Given the description of an element on the screen output the (x, y) to click on. 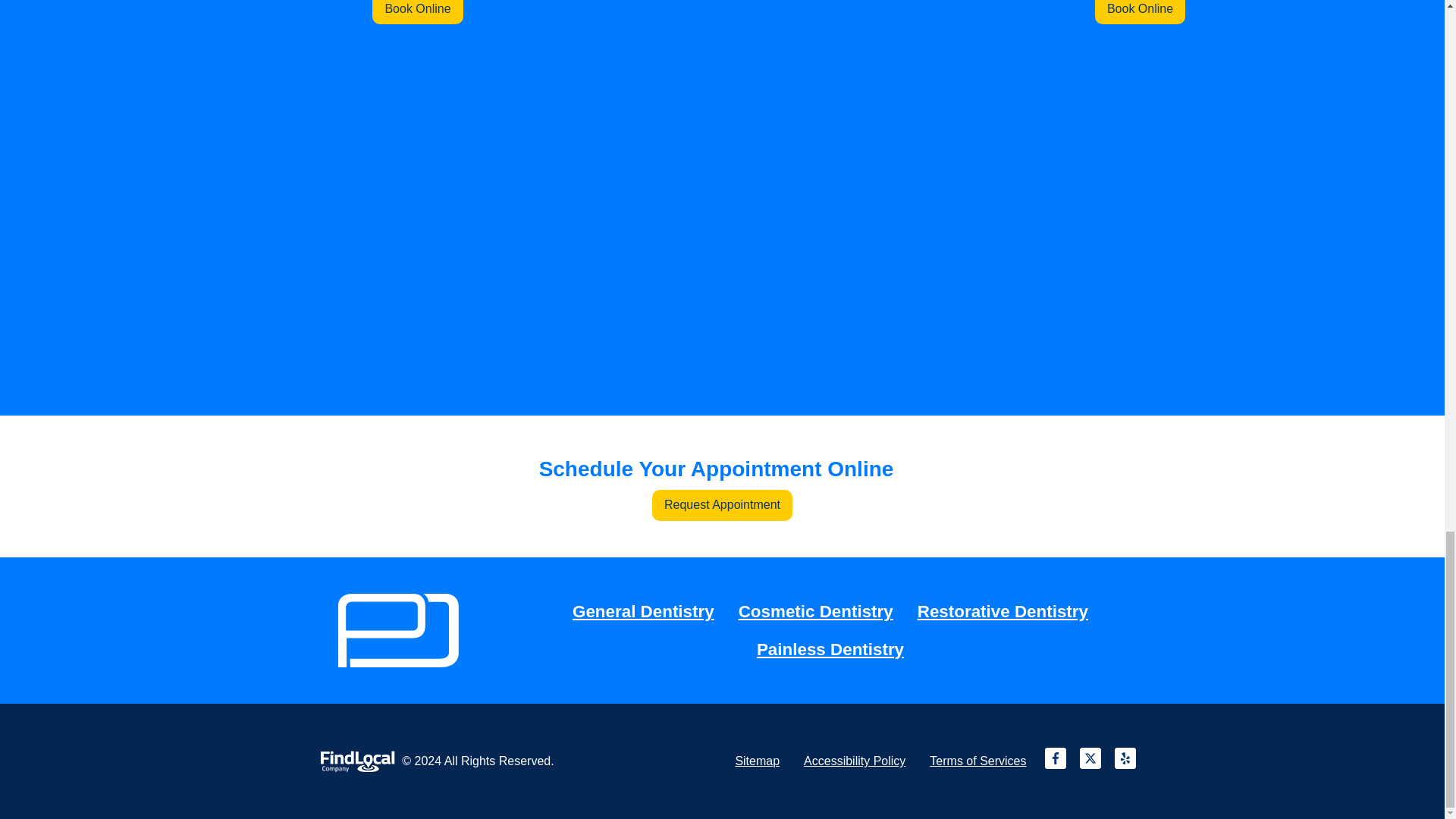
Digital Marketing SEO Agency (357, 762)
